Given the description of an element on the screen output the (x, y) to click on. 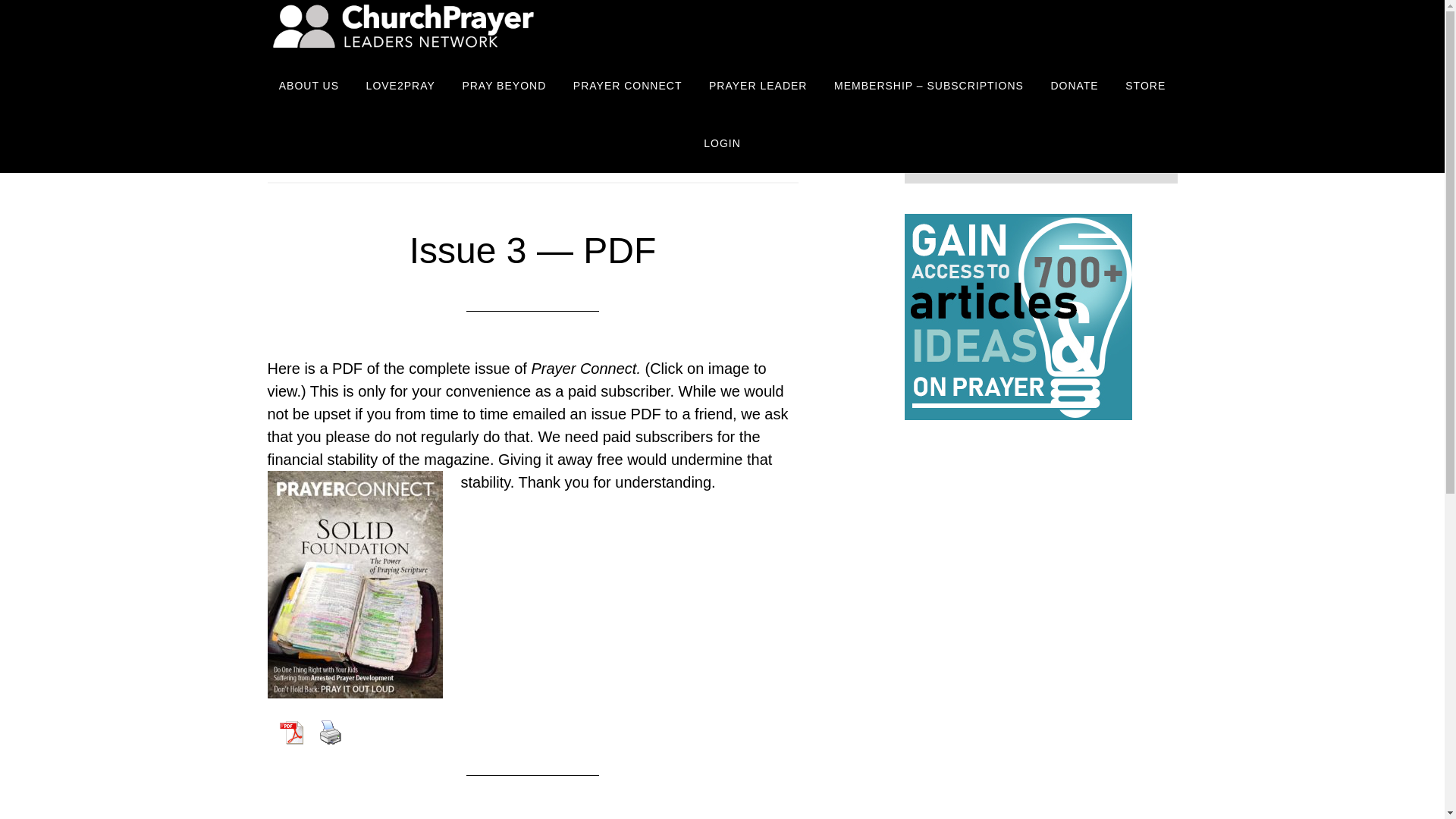
CHURCH PRAYER LEADERS NETWORK (403, 28)
LOVE2PRAY (400, 86)
PRAYER LEADER (757, 86)
ABOUT US (308, 86)
Print Content (330, 732)
PRAY BEYOND (503, 86)
View PDF (290, 732)
